Given the description of an element on the screen output the (x, y) to click on. 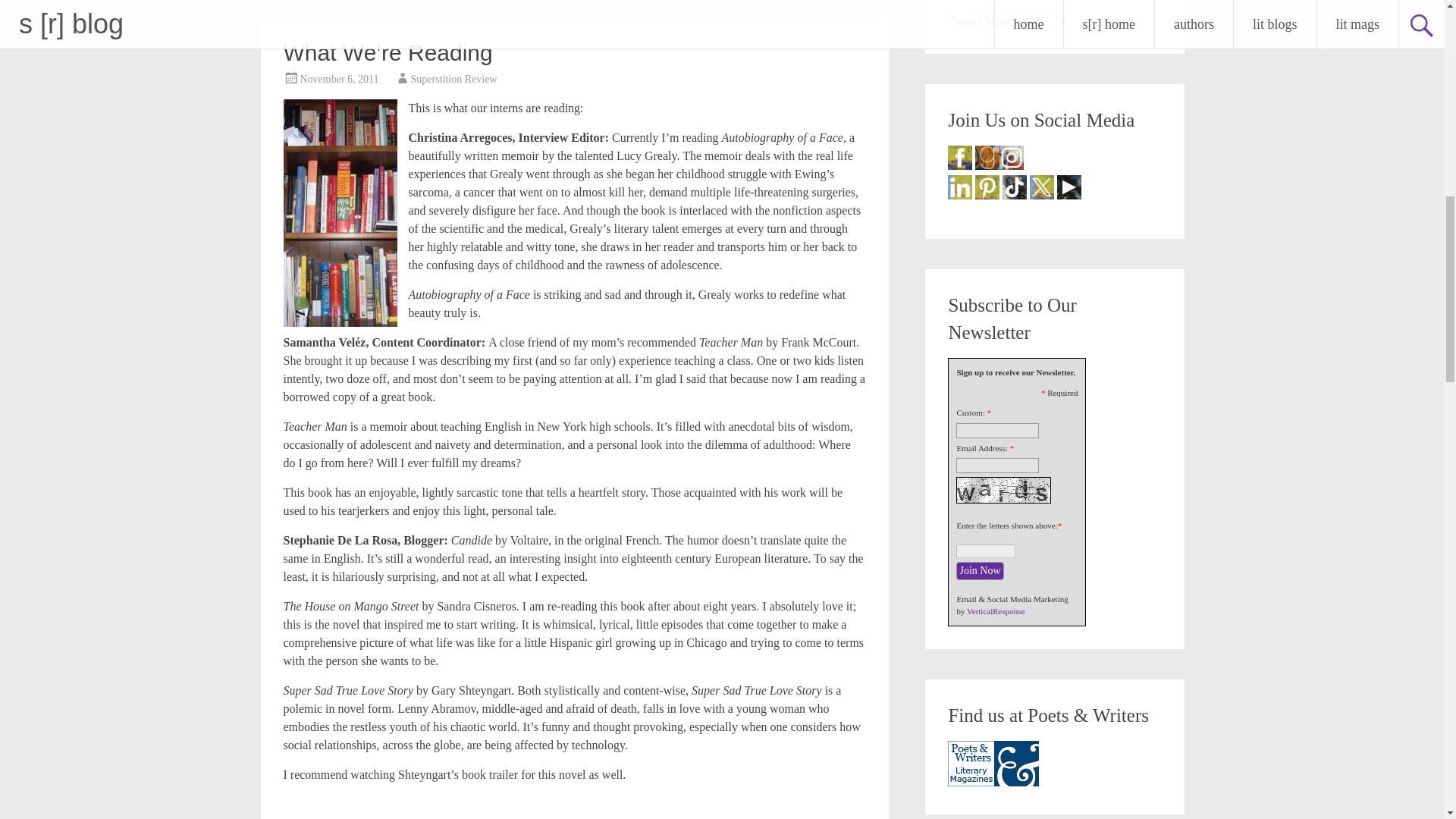
Superstition Review on Instagram (1010, 157)
Join Now (979, 570)
Superstition Review (453, 79)
November 6, 2011 (338, 79)
